Given the description of an element on the screen output the (x, y) to click on. 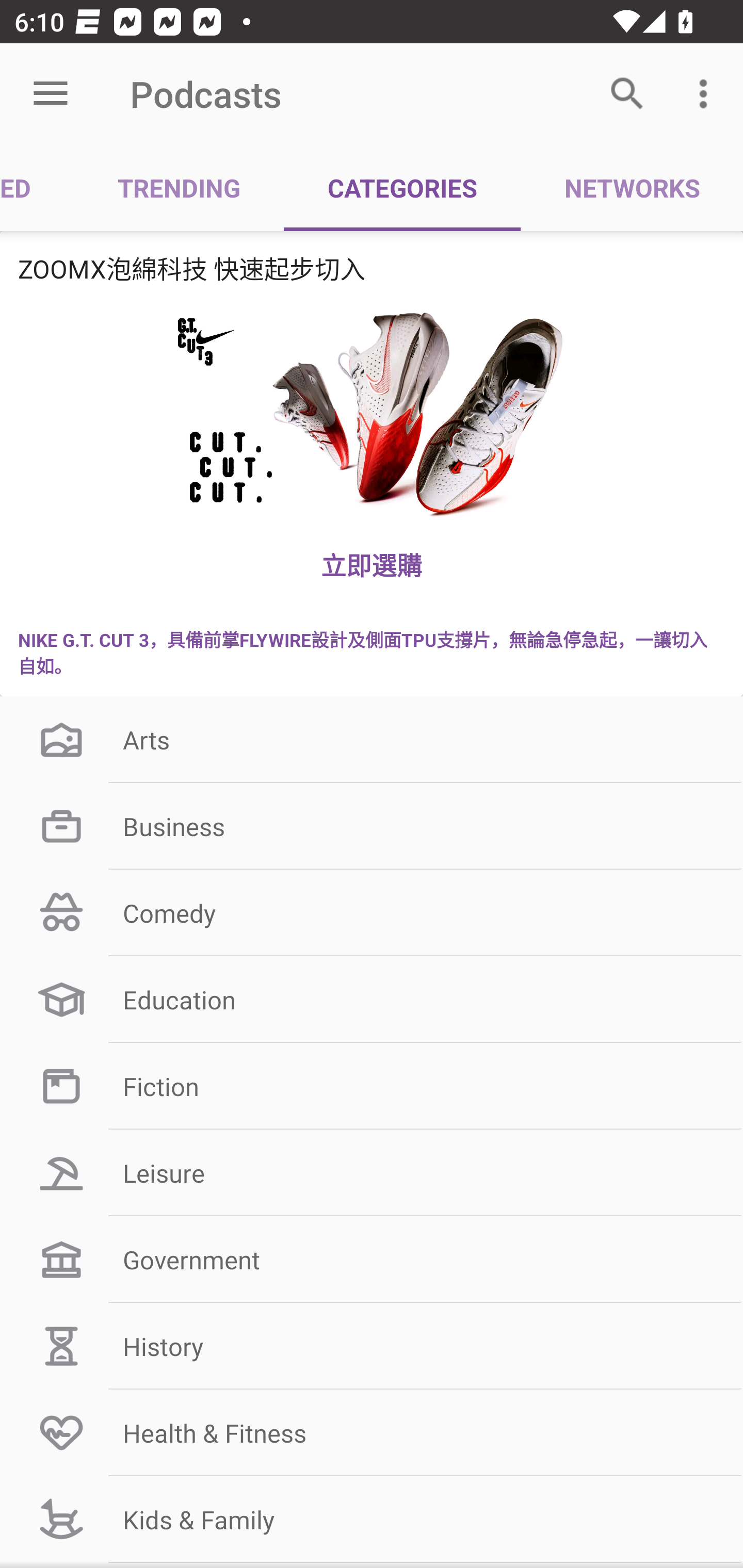
Open menu (50, 93)
Search (626, 93)
More options (706, 93)
TRENDING (178, 187)
CATEGORIES (401, 187)
NETWORKS (631, 187)
ZOOMX泡綿科技 快速起步切入 (371, 267)
立即選購 (371, 564)
Arts (371, 739)
Business (371, 826)
Comedy (371, 913)
Education (371, 999)
Fiction (371, 1085)
Leisure (371, 1172)
Government (371, 1259)
History (371, 1346)
Health & Fitness (371, 1432)
Kids & Family (371, 1519)
